Given the description of an element on the screen output the (x, y) to click on. 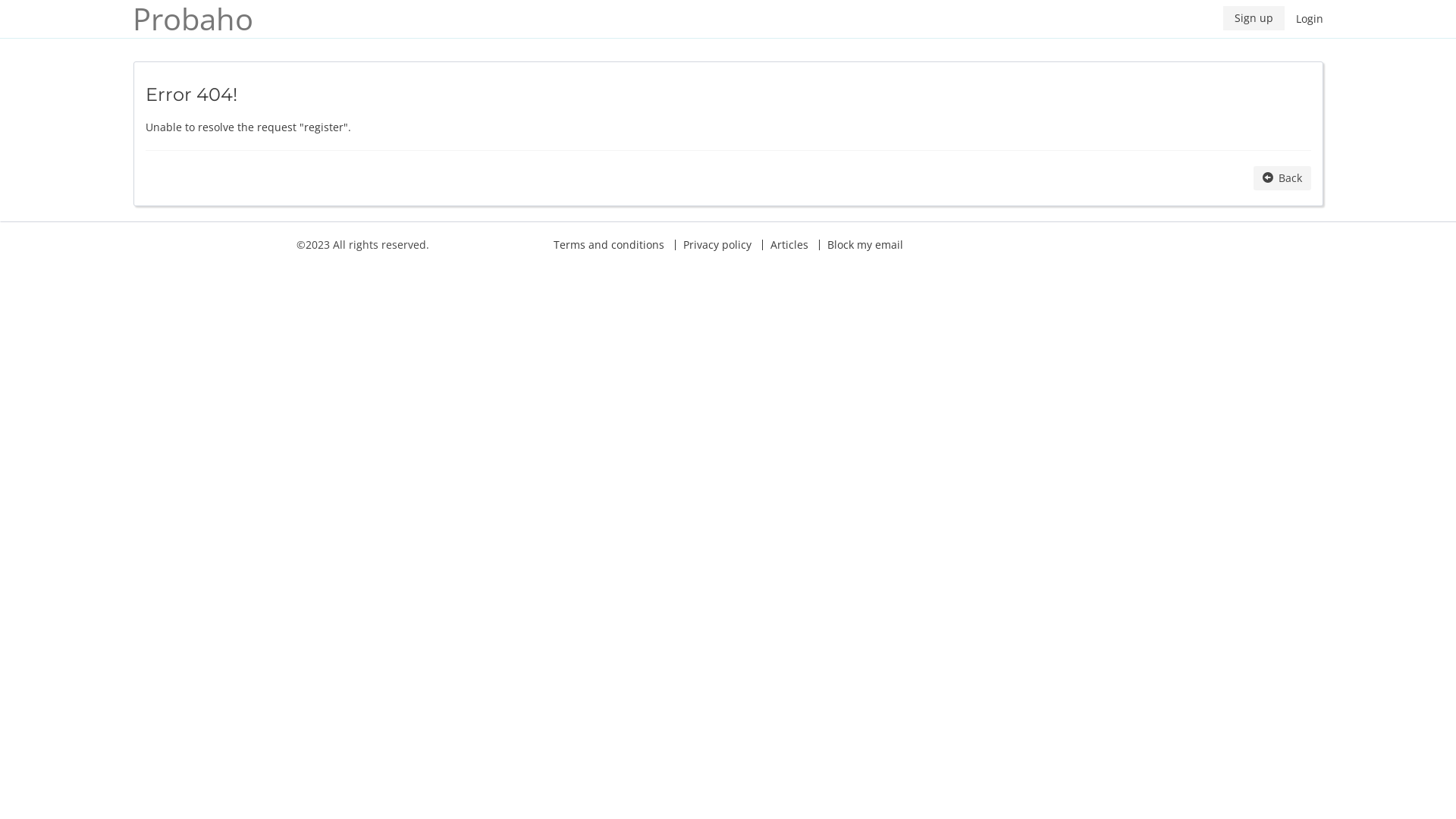
Login Element type: text (1309, 18)
Terms and conditions Element type: text (608, 244)
Probaho Element type: text (200, 18)
Sign up Element type: text (1253, 18)
Block my email Element type: text (865, 244)
Privacy policy Element type: text (717, 244)
Back Element type: text (1282, 178)
Articles Element type: text (789, 244)
